Given the description of an element on the screen output the (x, y) to click on. 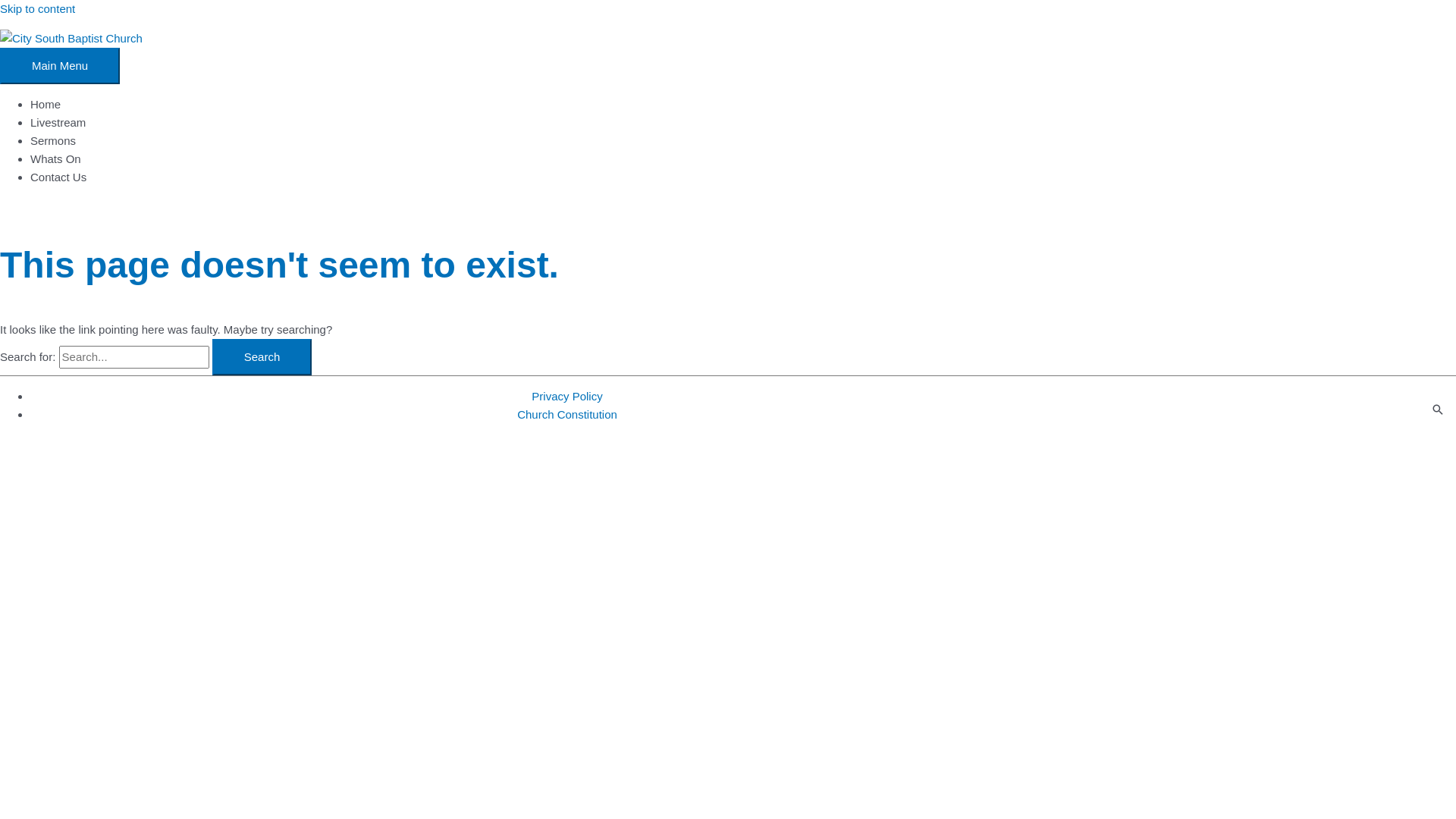
Search Element type: text (262, 356)
Main Menu Element type: text (59, 65)
Contact Us Element type: text (58, 176)
Privacy Policy Element type: text (566, 395)
Skip to content Element type: text (37, 8)
Livestream Element type: text (57, 122)
Church Constitution Element type: text (567, 413)
Whats On Element type: text (55, 158)
Sermons Element type: text (52, 140)
Home Element type: text (45, 103)
